Given the description of an element on the screen output the (x, y) to click on. 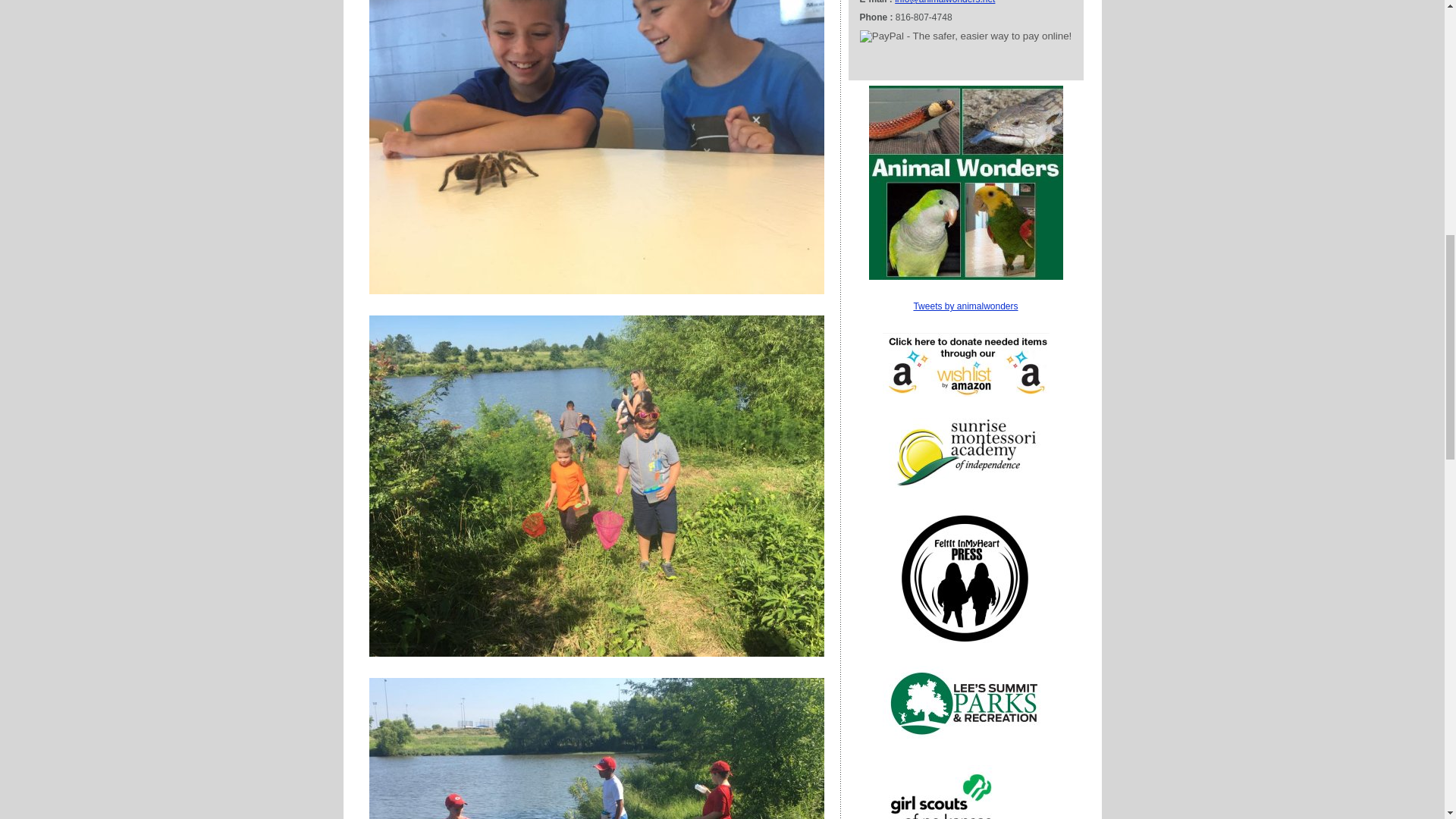
Tweets by animalwonders (964, 306)
